Given the description of an element on the screen output the (x, y) to click on. 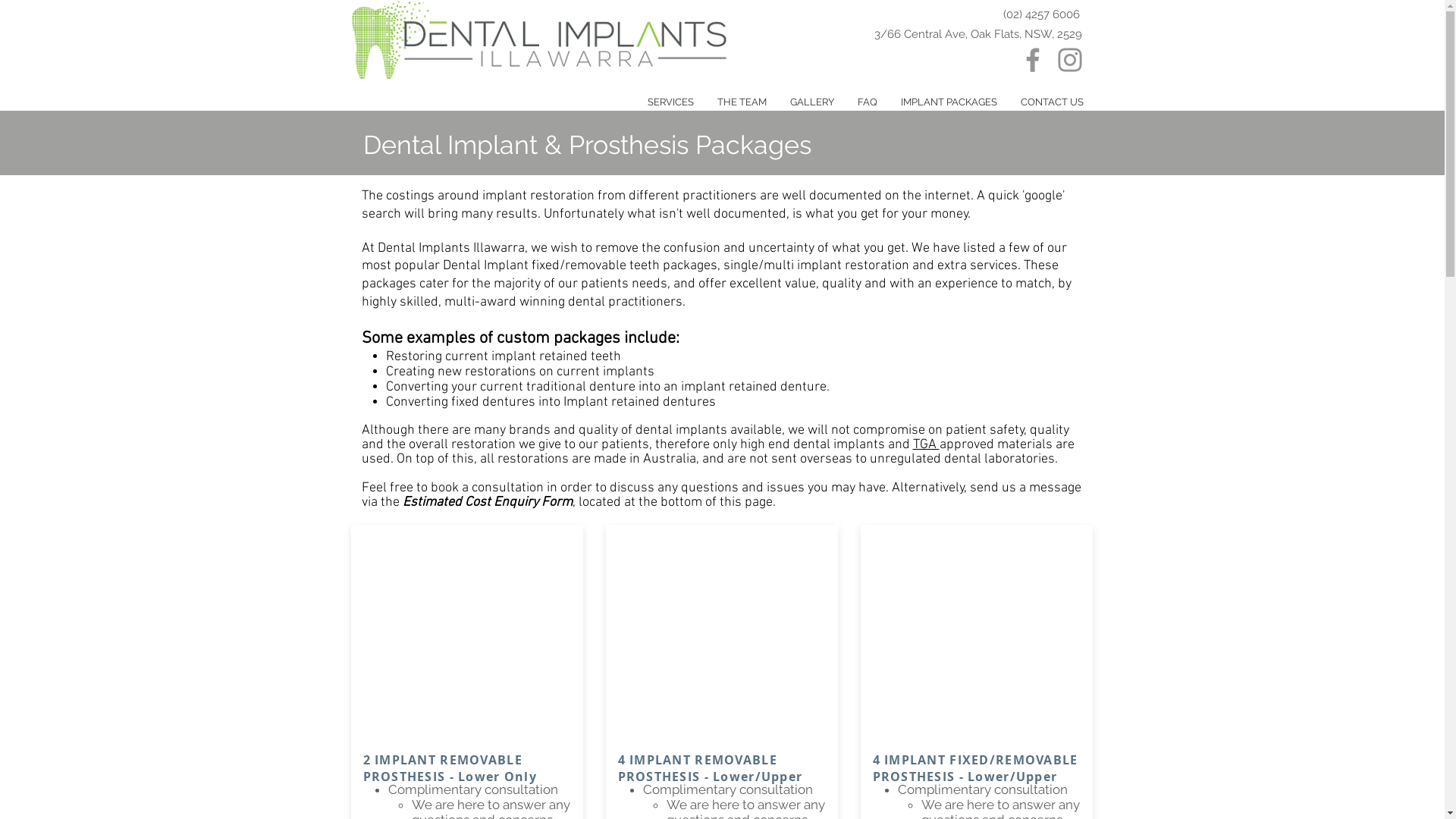
FAQ Element type: text (867, 101)
TGA Element type: text (926, 444)
THE TEAM Element type: text (741, 101)
GALLERY Element type: text (811, 101)
IMPLANT PACKAGES Element type: text (948, 101)
CONTACT US Element type: text (1051, 101)
